Given the description of an element on the screen output the (x, y) to click on. 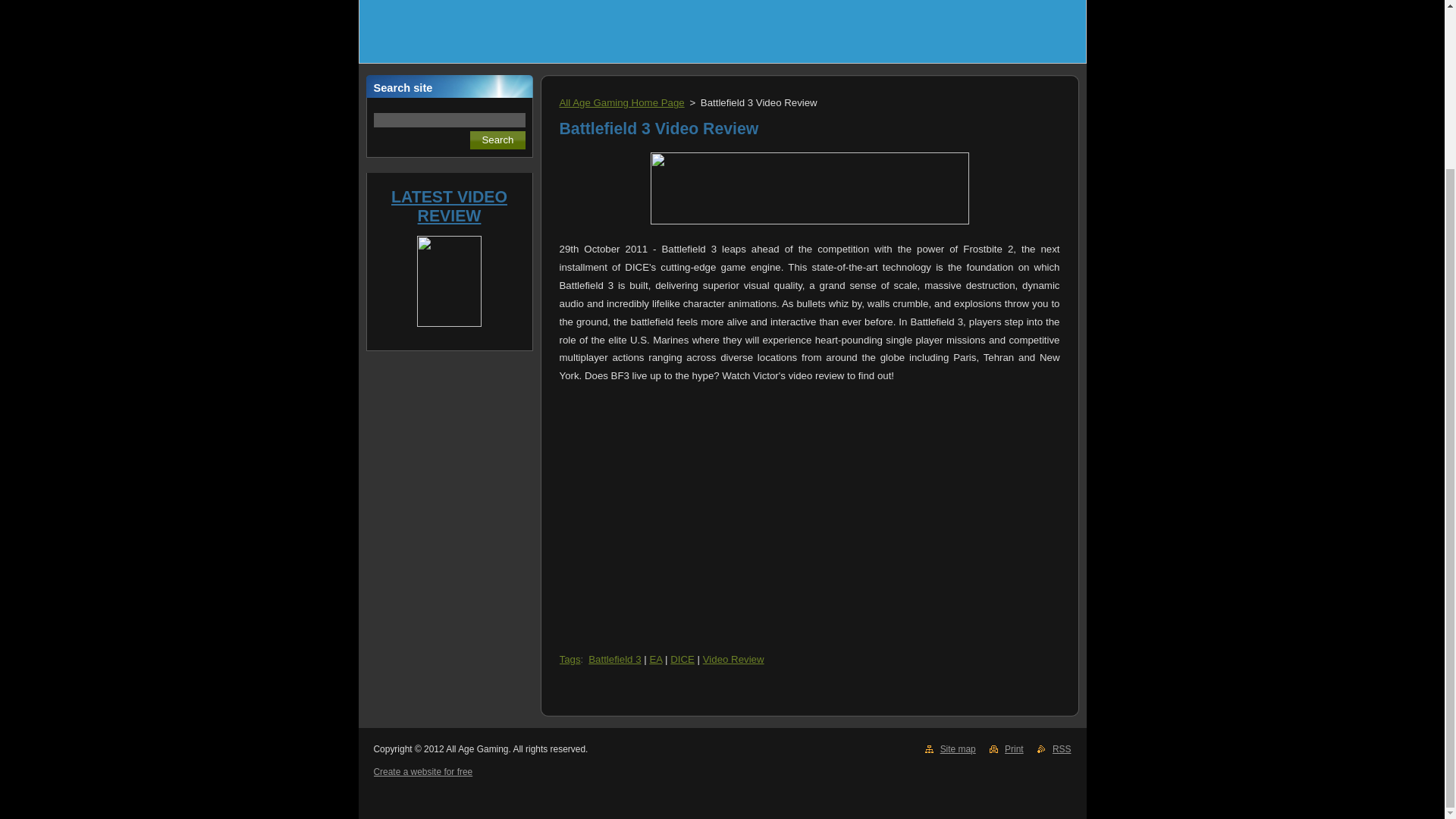
Video Review (733, 659)
Battlefield 3 (614, 659)
Go to site map. (957, 748)
Search (497, 140)
Print (1013, 748)
RSS Feeds (1061, 748)
RSS (1061, 748)
EA (655, 659)
Tags (569, 659)
All Age Gaming Home Page (621, 102)
